Given the description of an element on the screen output the (x, y) to click on. 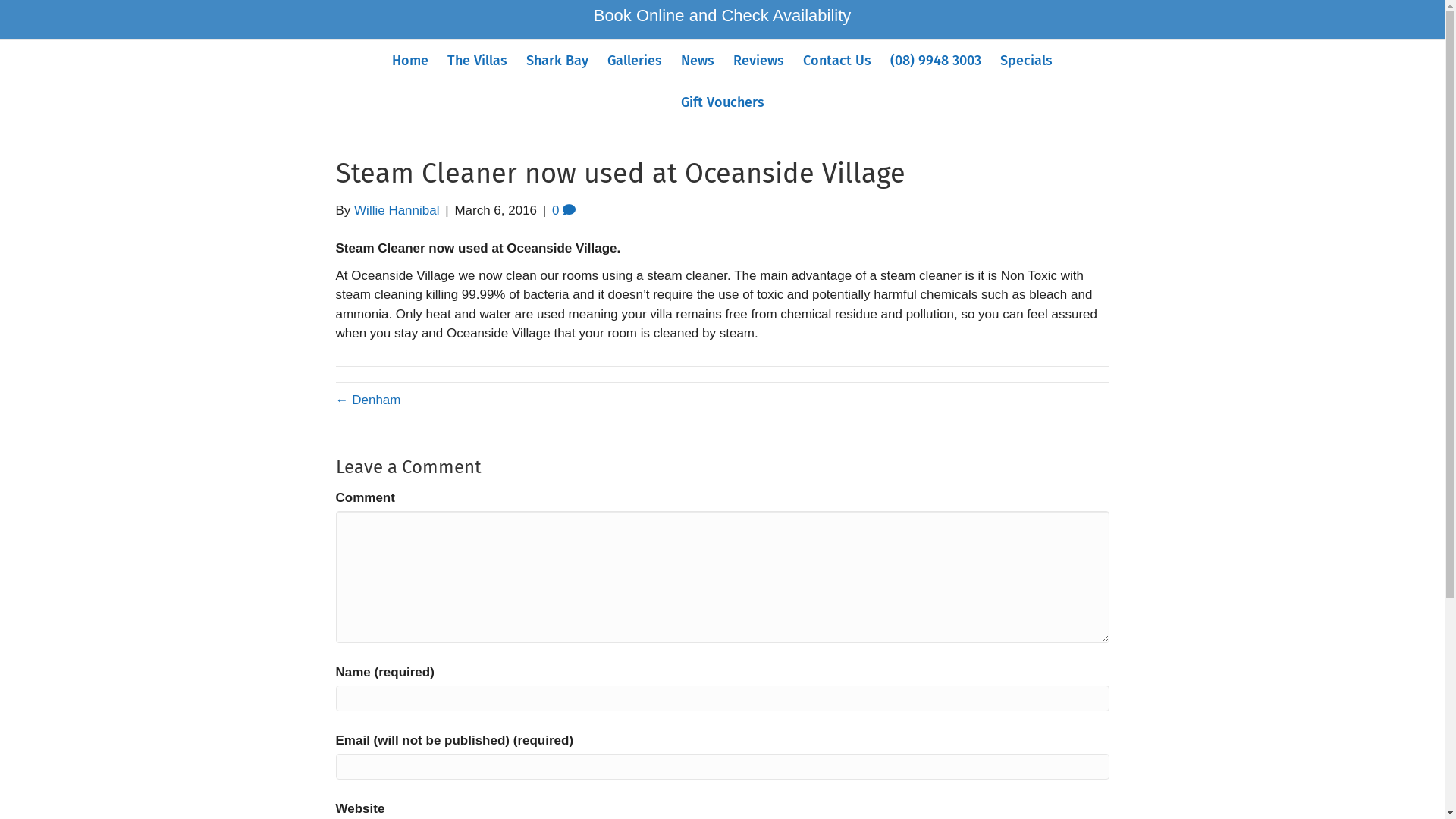
Reviews Element type: text (758, 60)
Shark Bay Element type: text (557, 60)
(08) 9948 3003 Element type: text (935, 60)
Willie Hannibal Element type: text (396, 210)
Book Online and Check Availability Element type: text (722, 15)
Gift Vouchers Element type: text (722, 102)
Contact Us Element type: text (836, 60)
Galleries Element type: text (634, 60)
Specials Element type: text (1026, 60)
News Element type: text (697, 60)
Home Element type: text (410, 60)
0 Element type: text (563, 210)
The Villas Element type: text (476, 60)
